Given the description of an element on the screen output the (x, y) to click on. 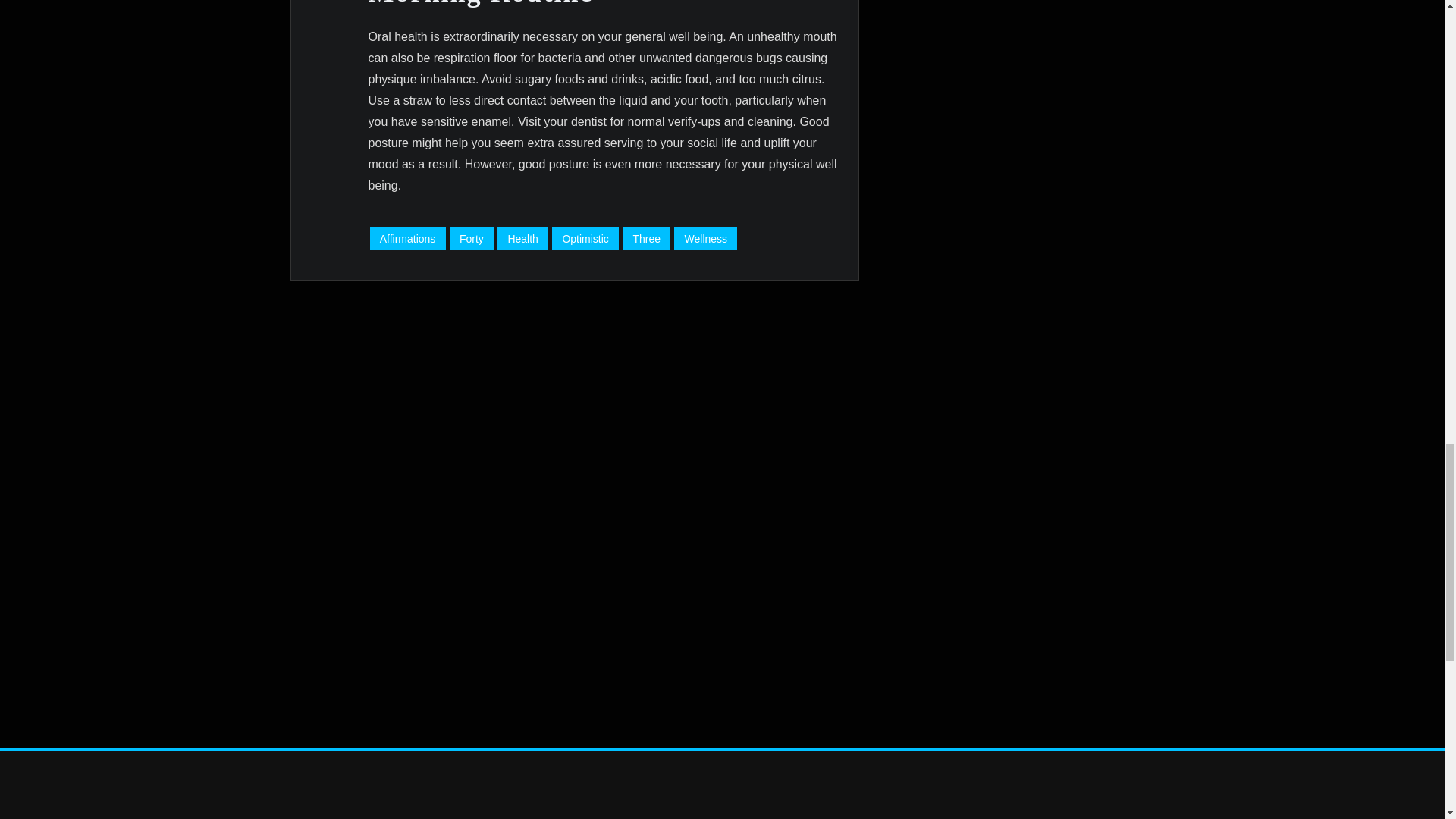
Optimistic (584, 238)
Forty (471, 238)
Three (646, 238)
Wellness (705, 238)
Affirmations (407, 238)
Health (522, 238)
